Given the description of an element on the screen output the (x, y) to click on. 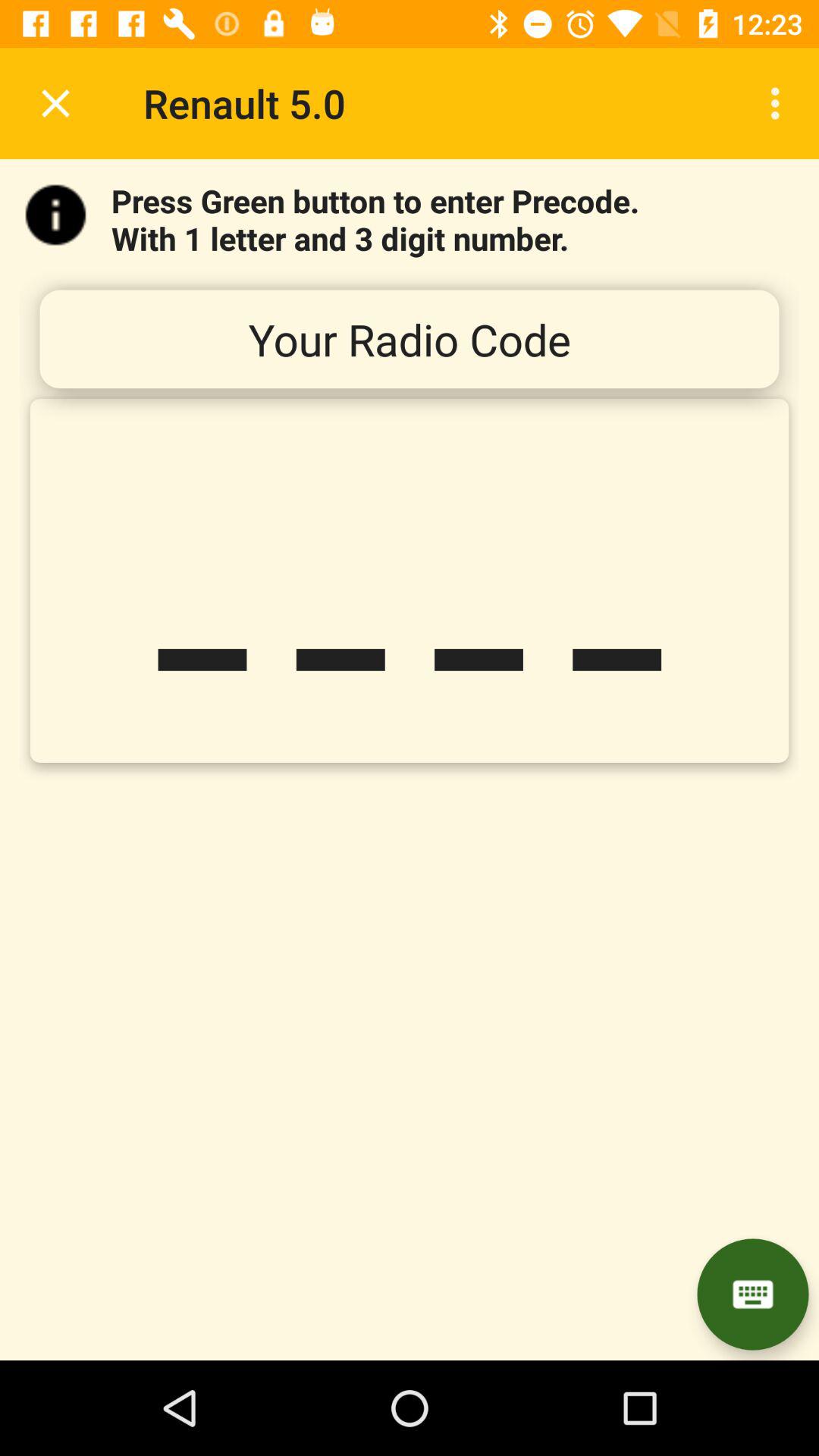
choose icon to the left of the renault 5.0 (55, 103)
